Given the description of an element on the screen output the (x, y) to click on. 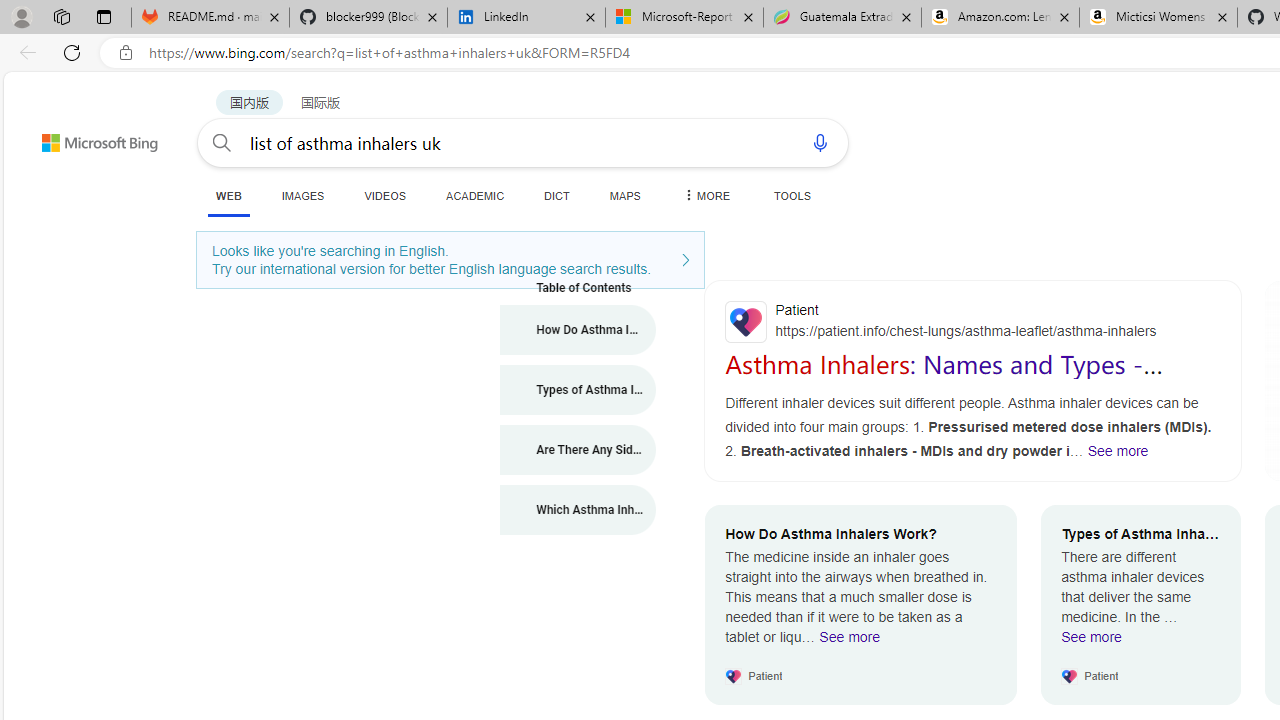
Asthma Inhalers: Names and Types - Patient (943, 378)
Dropdown Menu (705, 195)
DICT (557, 195)
MAPS (624, 195)
